Given the description of an element on the screen output the (x, y) to click on. 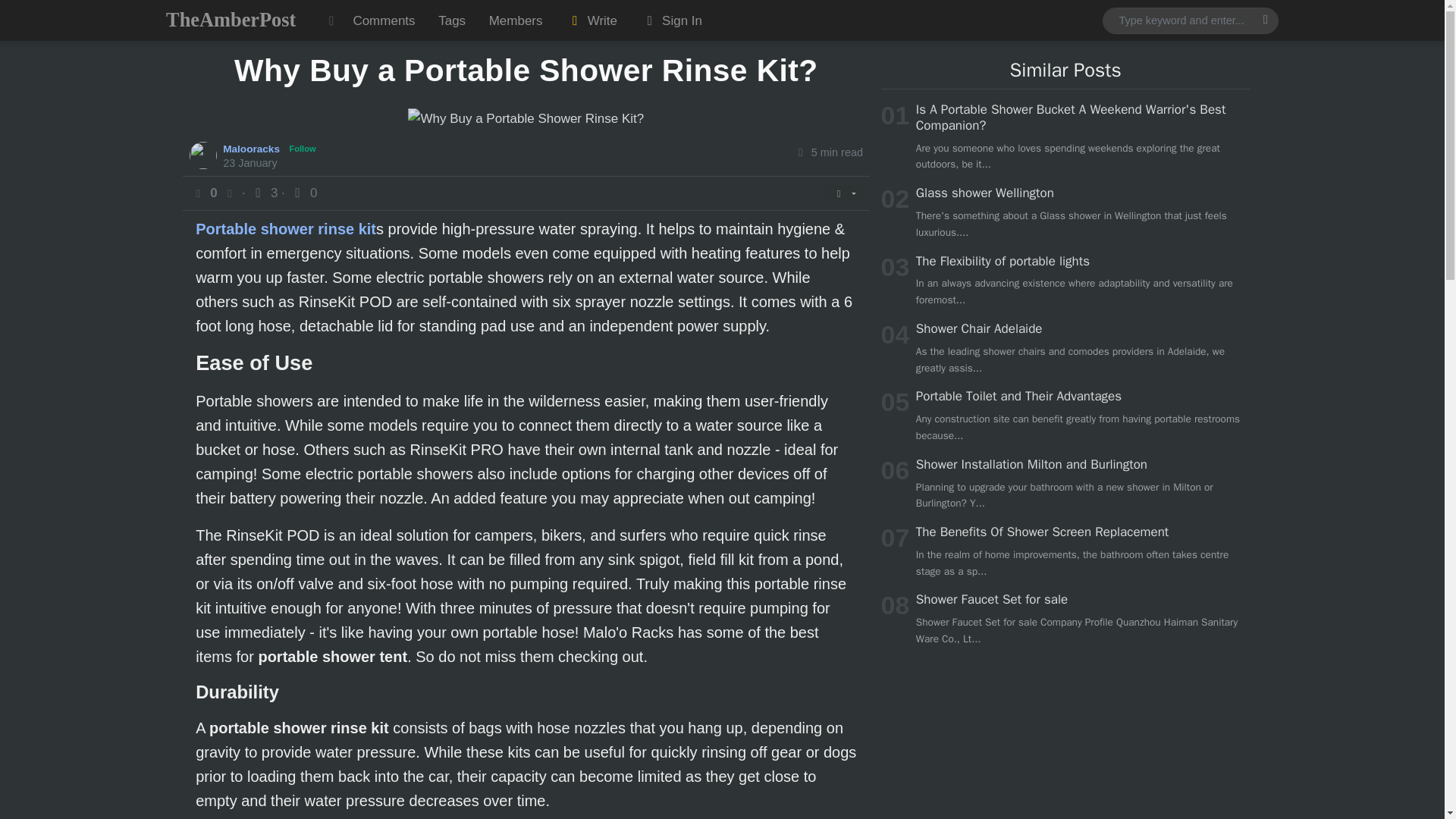
The Benefits Of Shower Screen Replacement (1042, 531)
Sign In (670, 20)
Follow (302, 148)
TheAmberPost (230, 20)
Malooracks (252, 147)
Portable Toilet and Their Advantages (1018, 396)
0 (302, 192)
The Flexibility of portable lights (1002, 261)
Portable shower rinse kit (285, 228)
